Given the description of an element on the screen output the (x, y) to click on. 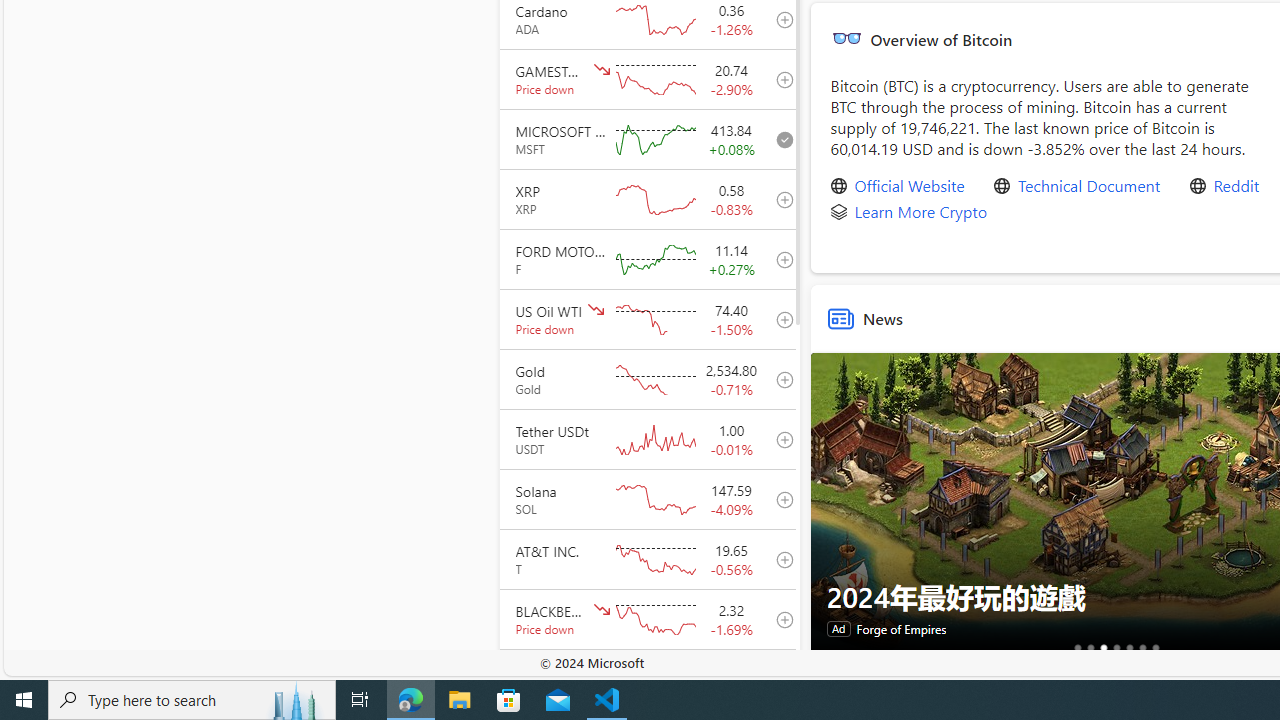
remove from your watchlist (779, 138)
Technical Document (1088, 185)
Official Website (909, 185)
